Given the description of an element on the screen output the (x, y) to click on. 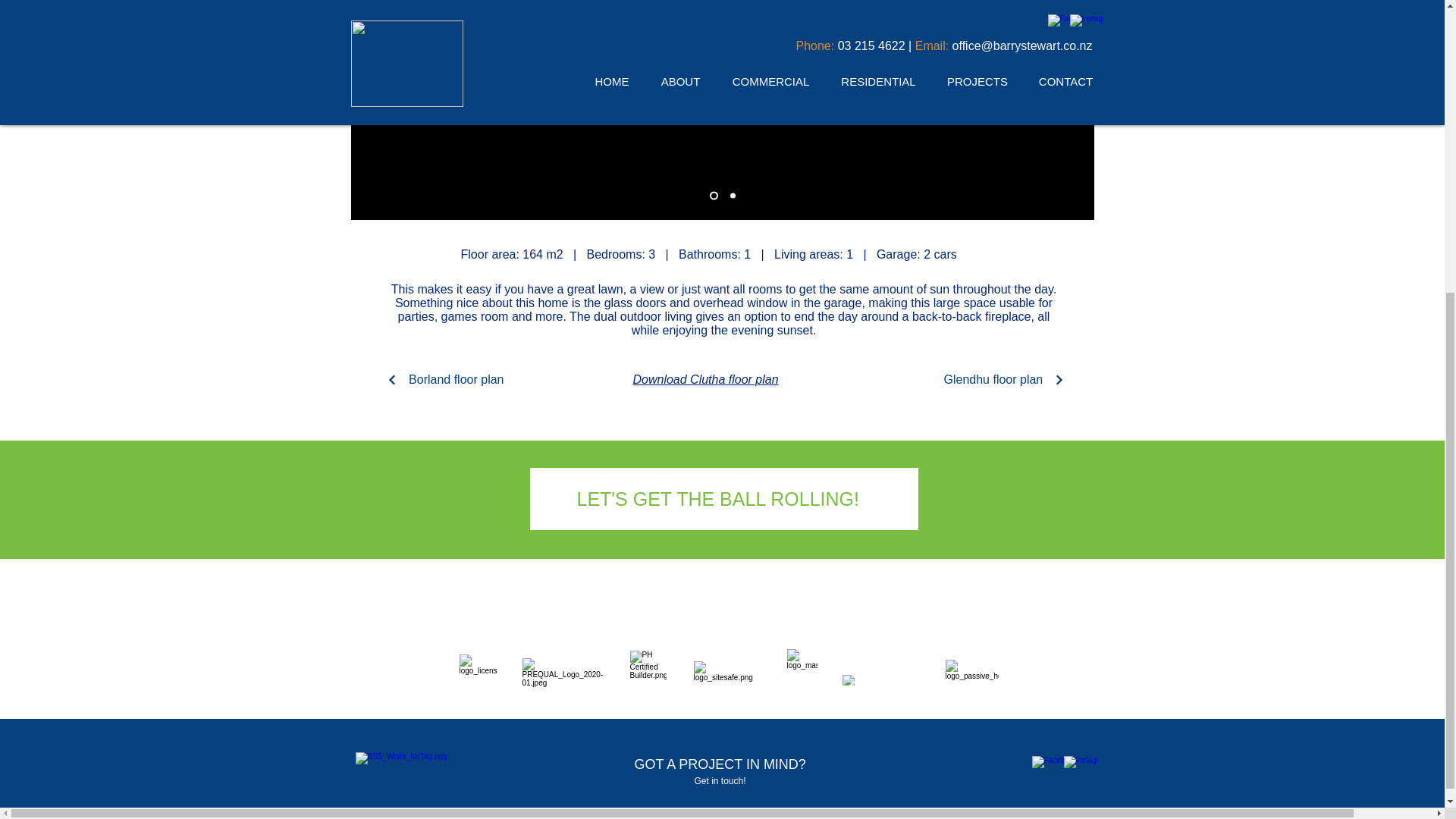
LET'S GET THE BALL ROLLING! (717, 498)
Download Clutha floor plan (704, 379)
Borland floor plan (437, 379)
Glendhu floor plan (1009, 379)
Get in touch! (719, 780)
